Given the description of an element on the screen output the (x, y) to click on. 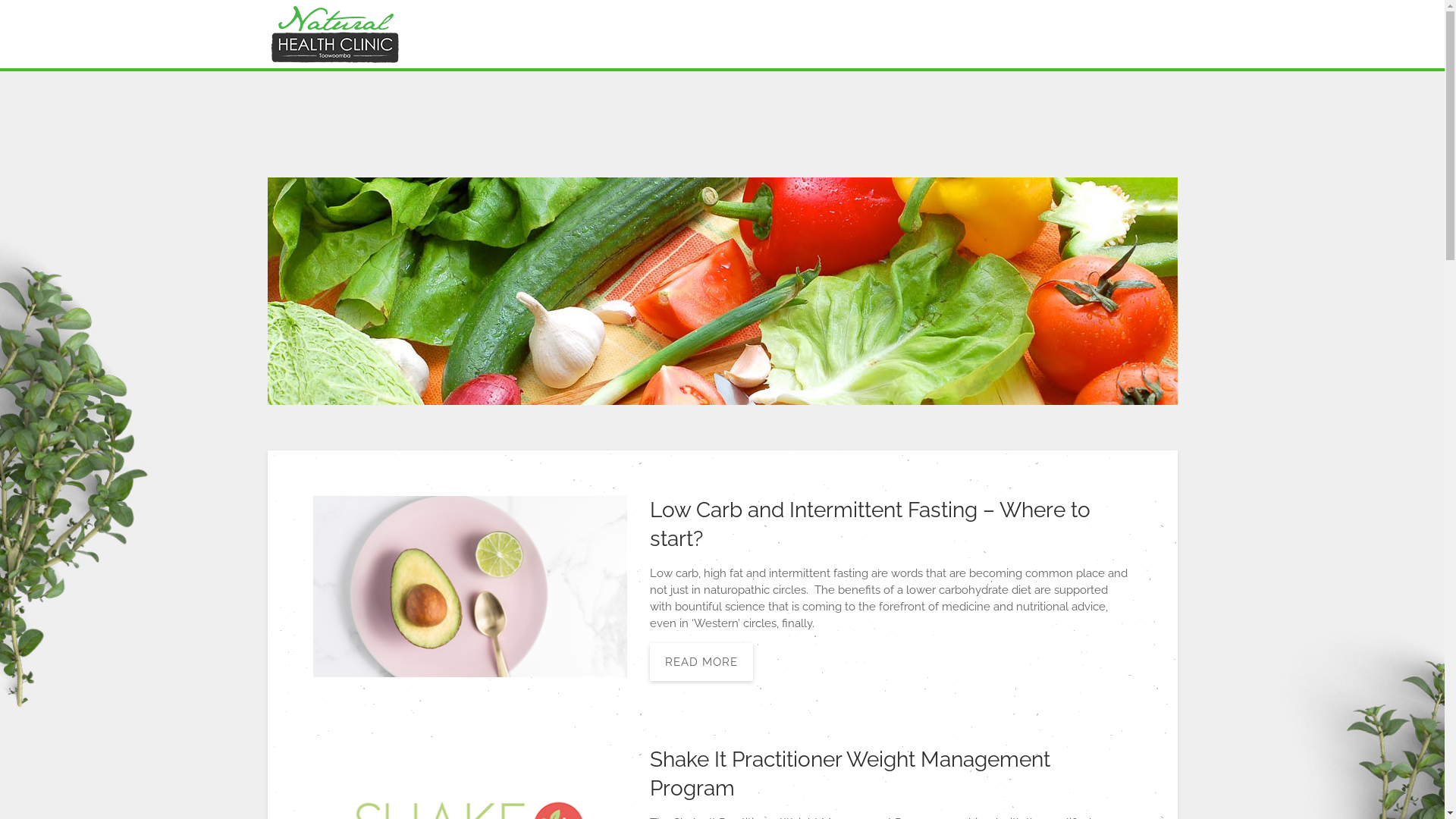
READ MORE Element type: text (700, 661)
Shake It Practitioner Weight Management Program Element type: text (849, 773)
